Given the description of an element on the screen output the (x, y) to click on. 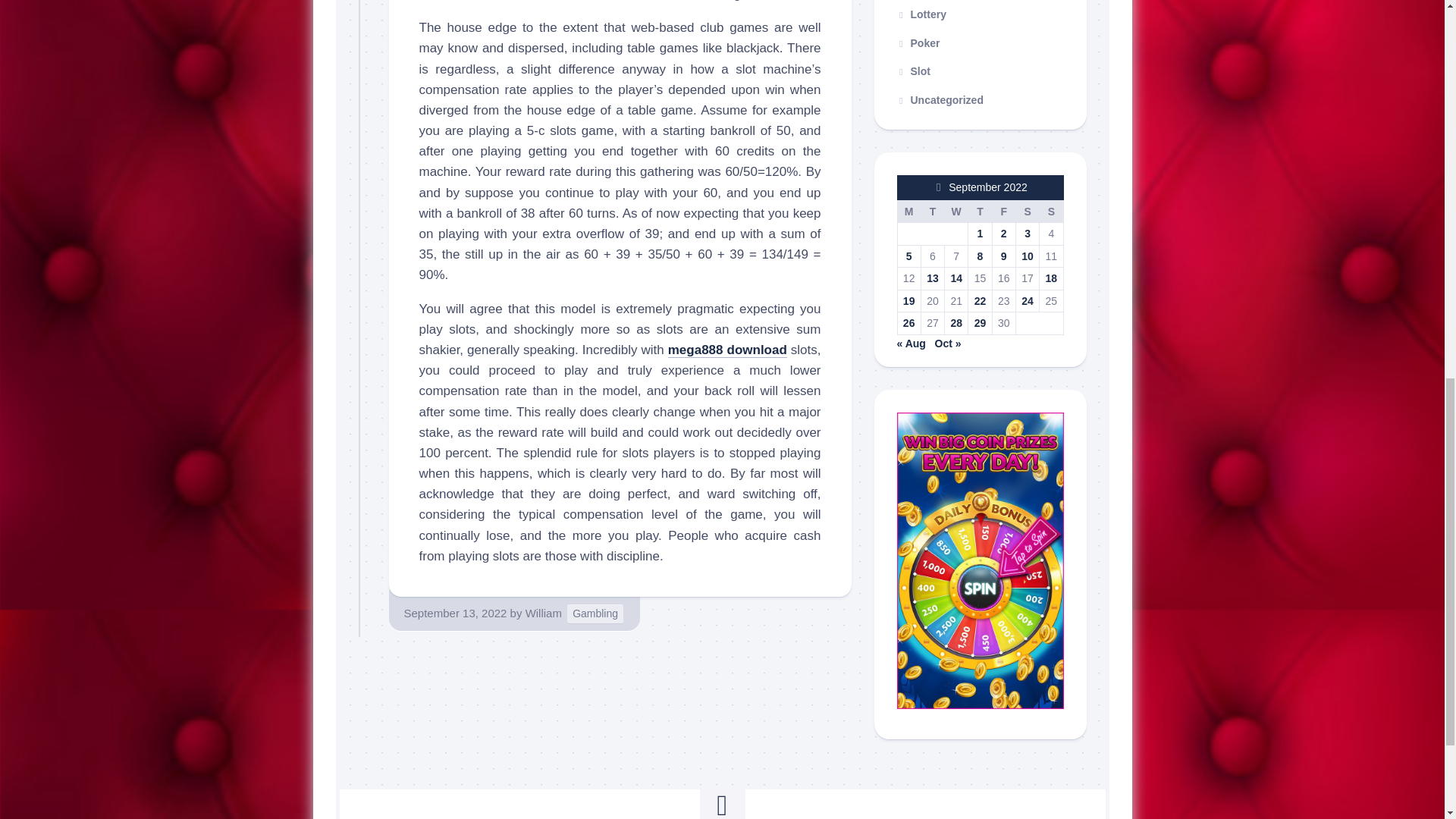
William (543, 612)
18 (1051, 277)
Thursday (979, 210)
Sunday (1050, 210)
Poker (917, 42)
Wednesday (956, 210)
10 (1027, 256)
13 (932, 277)
mega888 download (727, 350)
24 (1027, 300)
Posts by William (543, 612)
26 (908, 322)
14 (956, 277)
Tuesday (931, 210)
19 (908, 300)
